Given the description of an element on the screen output the (x, y) to click on. 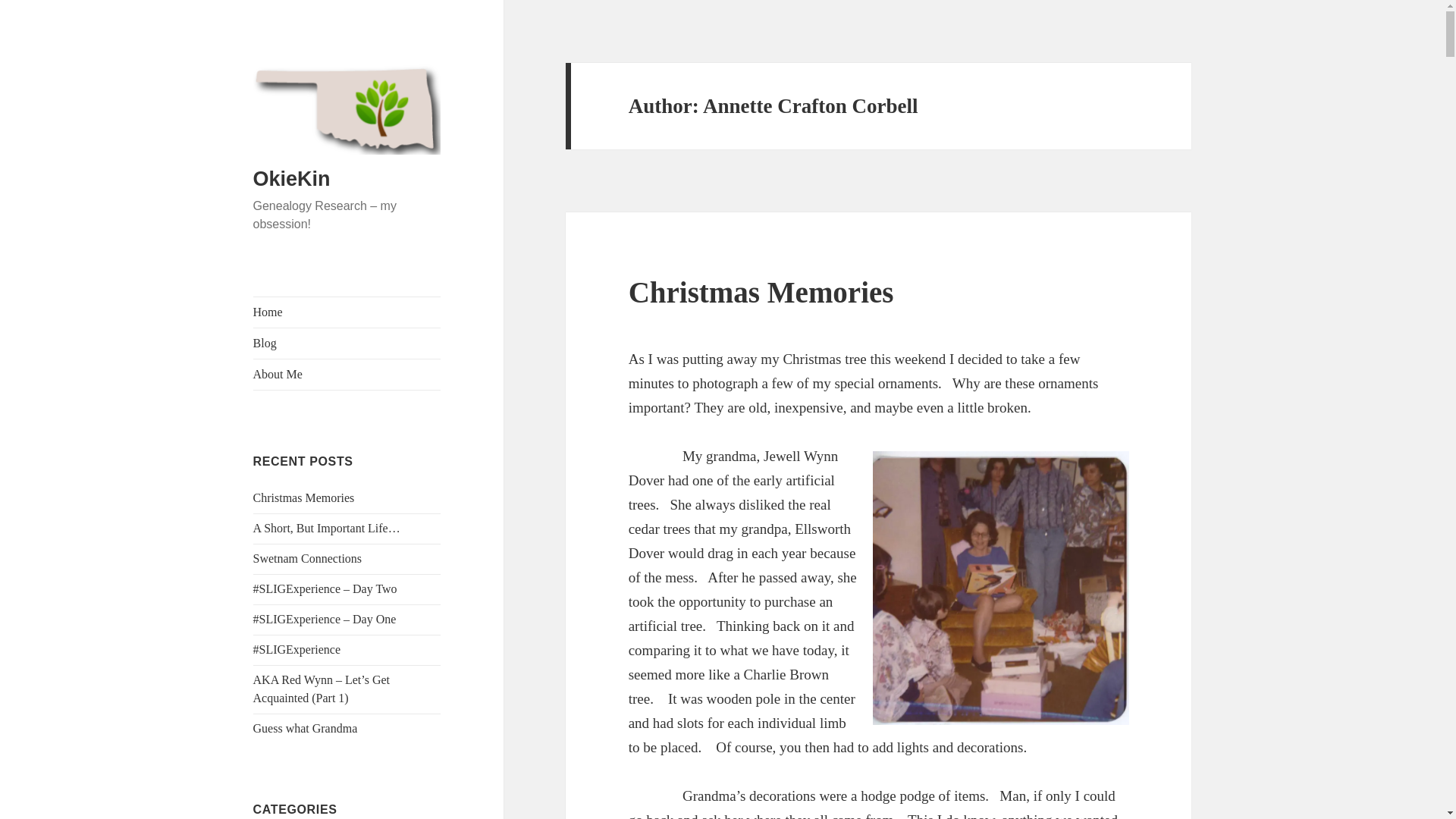
Guess what Grandma (305, 727)
OkieKin (291, 178)
Christmas Memories (760, 292)
Home (347, 312)
About Me (347, 374)
Swetnam Connections (307, 558)
Christmas Memories (304, 497)
Blog (347, 343)
